Given the description of an element on the screen output the (x, y) to click on. 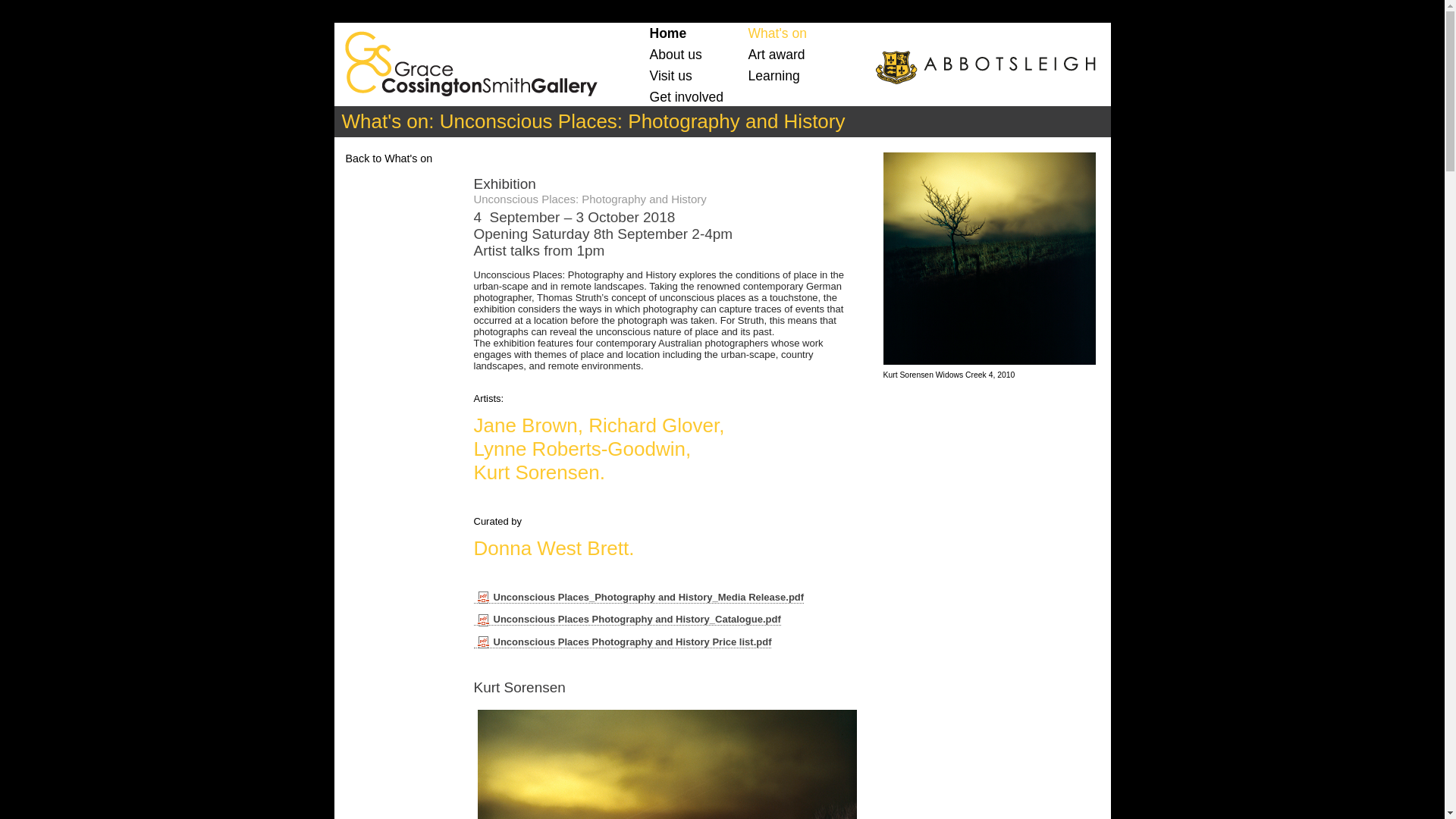
Return to the homepage Element type: hover (466, 59)
Art award Element type: text (776, 54)
About us Element type: text (675, 54)
Unconscious Places_Photography and History_Media Release.pdf Element type: text (638, 597)
Visit us Element type: text (671, 75)
Sign In Element type: text (1414, 20)
Home Element type: text (668, 33)
Visit Abbotsleigh website Element type: hover (984, 66)
What's on Element type: text (777, 33)
Get involved Element type: text (686, 97)
Back to What's on Element type: text (389, 158)
Unconscious Places Photography and History_Catalogue.pdf Element type: text (626, 619)
Unconscious Places Photography and History Price list.pdf Element type: text (622, 642)
What's on Element type: text (384, 120)
Learning Element type: text (773, 75)
